Given the description of an element on the screen output the (x, y) to click on. 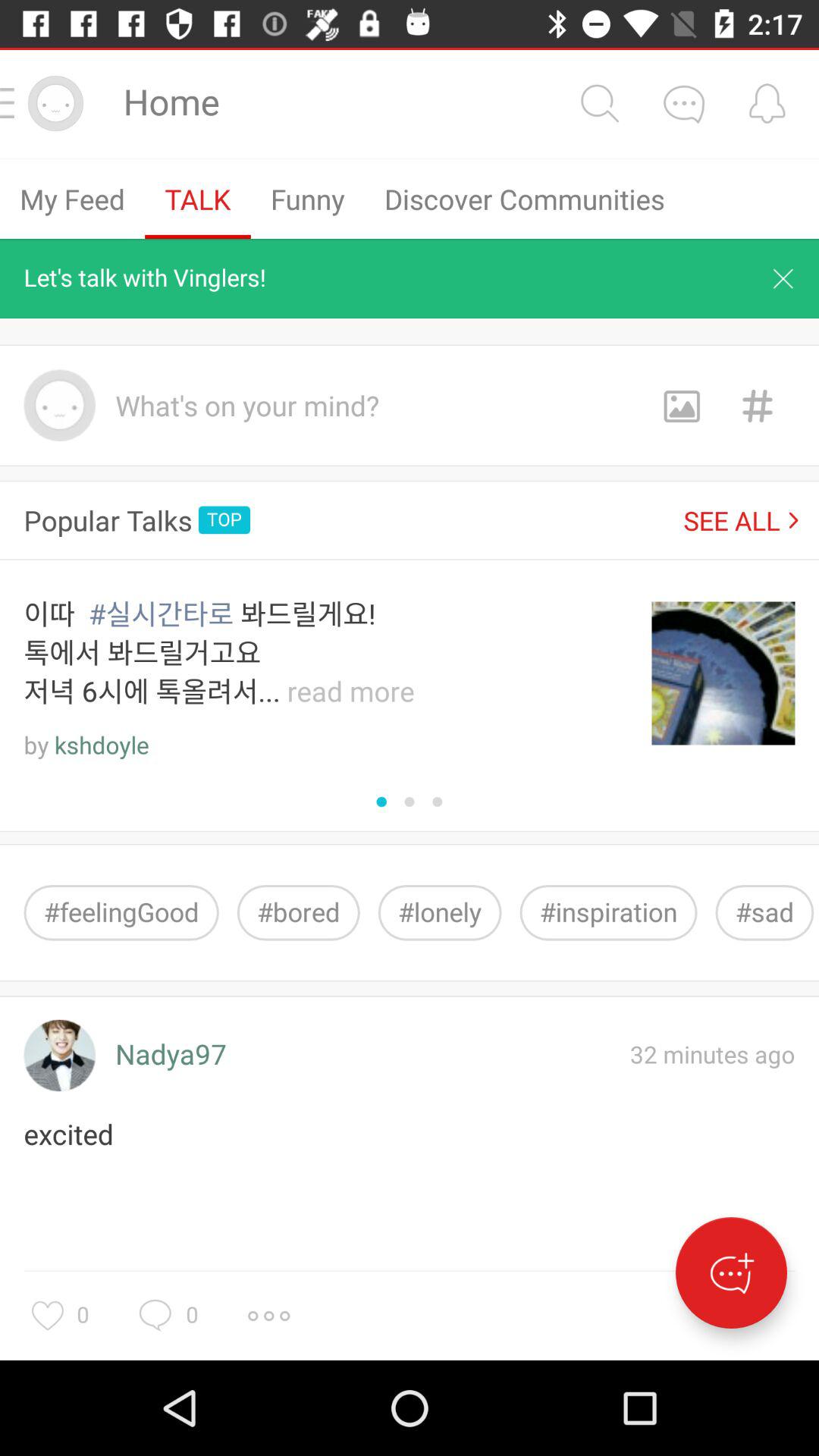
click item next to 32 minutes ago (170, 1055)
